Given the description of an element on the screen output the (x, y) to click on. 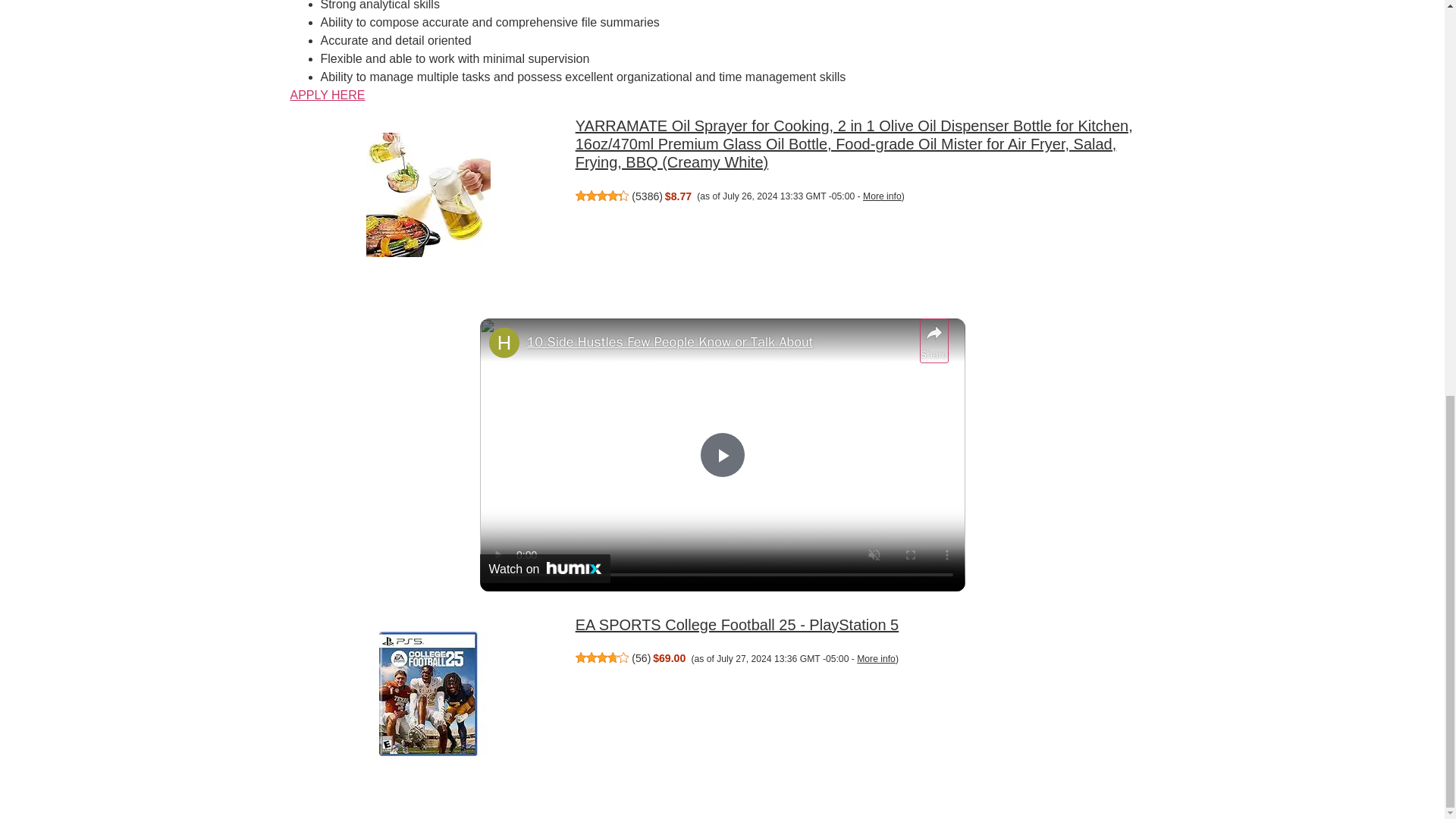
Play Video (721, 454)
Play Video (721, 454)
EA SPORTS College Football 25 - PlayStation 5: (737, 624)
5386 (646, 196)
EA SPORTS College Football 25 - PlayStation 5: (427, 696)
More info (882, 195)
APPLY HERE (327, 94)
